Given the description of an element on the screen output the (x, y) to click on. 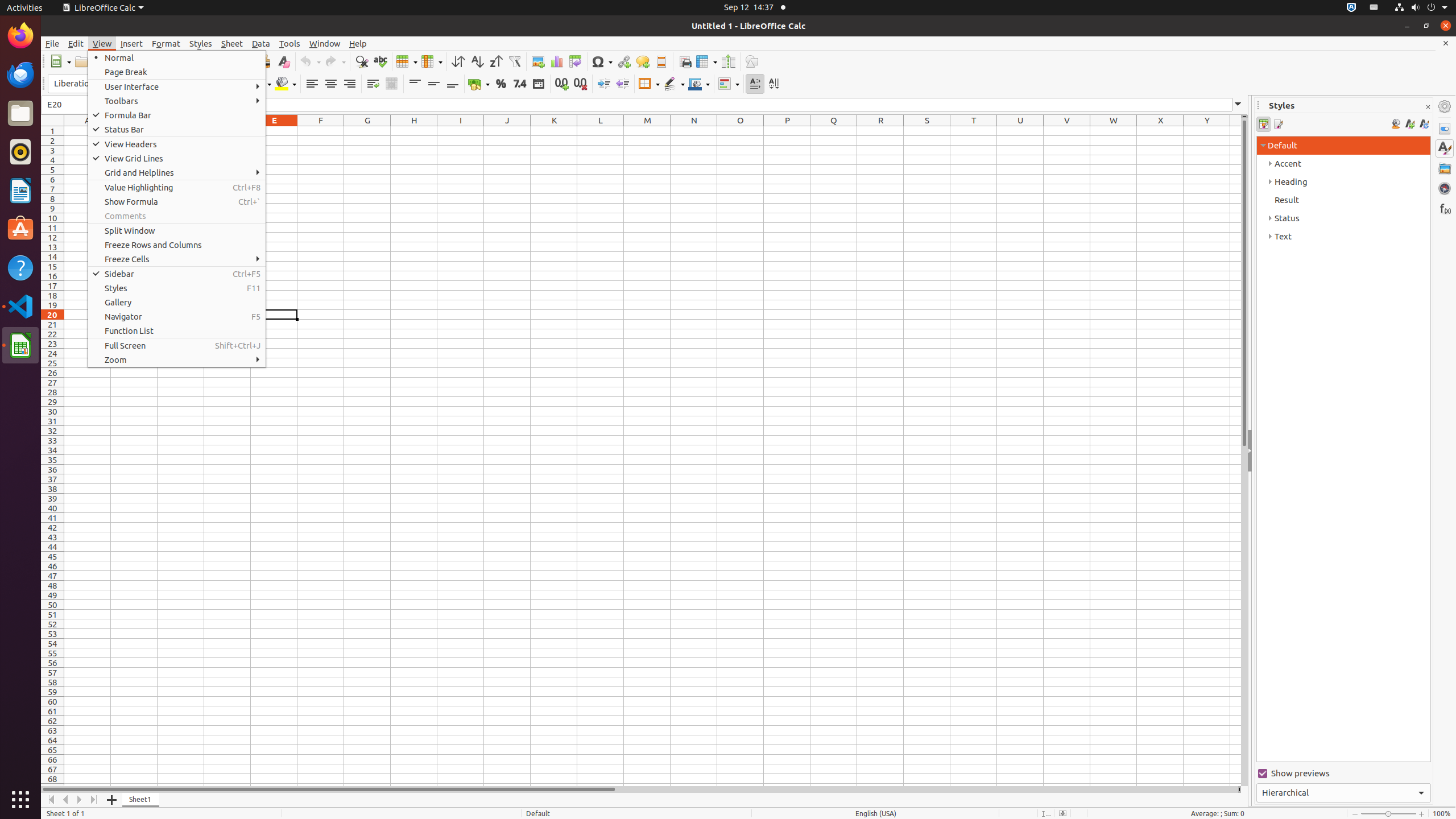
Freeze Cells Element type: menu (176, 258)
LibreOffice Calc Element type: push-button (20, 344)
Insert Element type: menu (131, 43)
Align Right Element type: push-button (349, 83)
Zoom Element type: menu (176, 359)
